Given the description of an element on the screen output the (x, y) to click on. 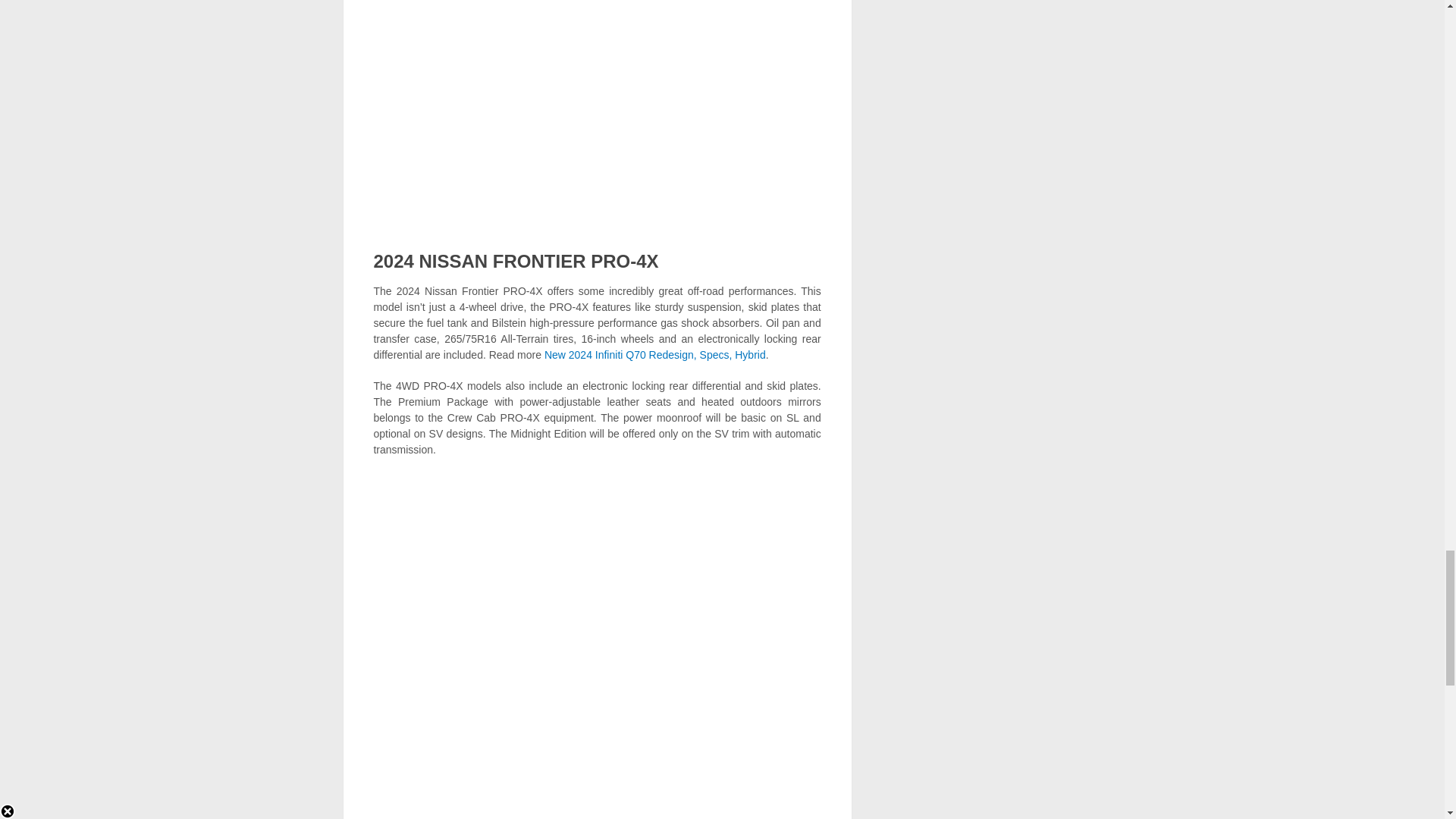
New 2024 Infiniti Q70 Redesign, Specs, Hybrid (654, 354)
